Given the description of an element on the screen output the (x, y) to click on. 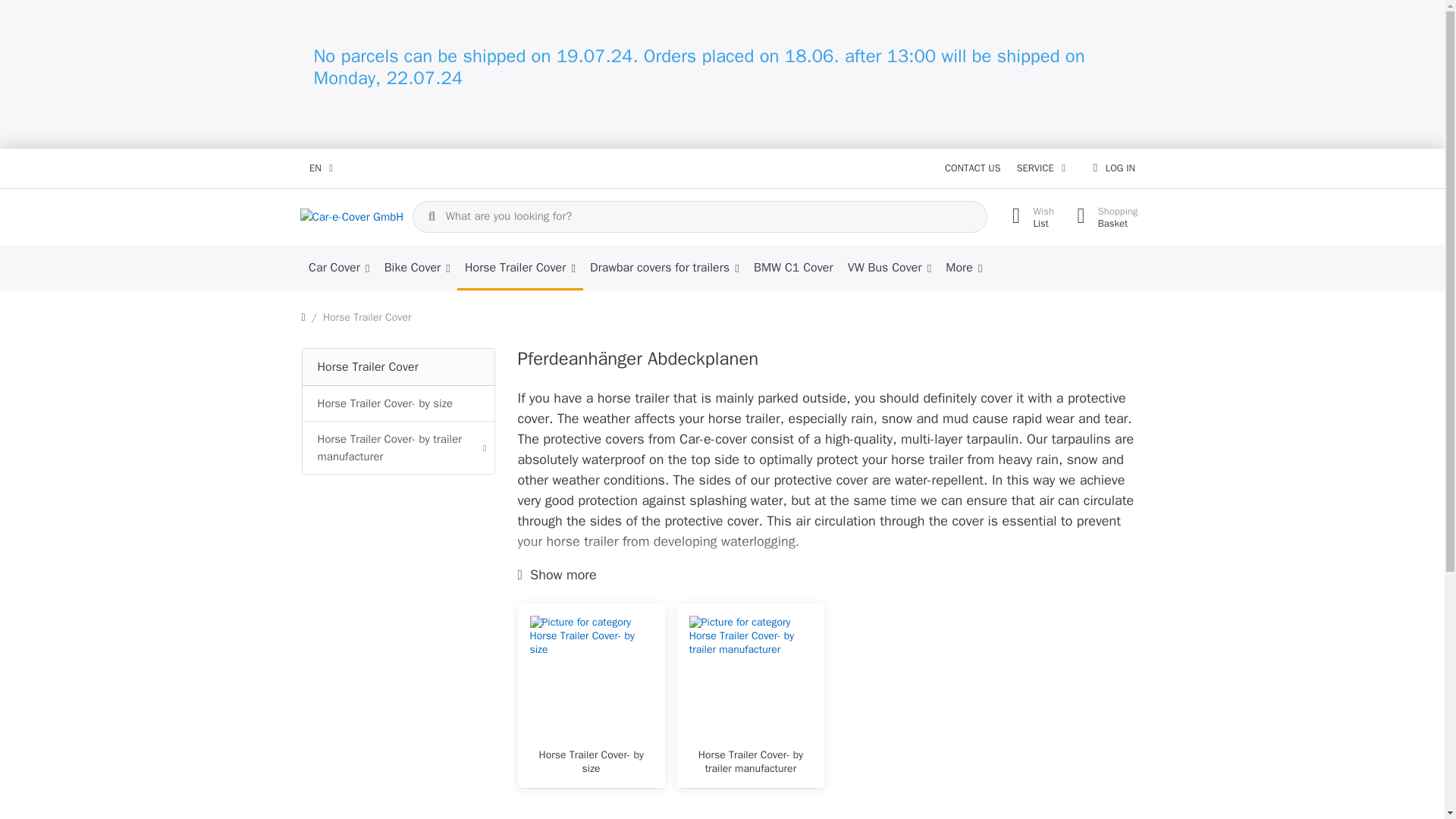
Car-e-Cover GmbH (351, 217)
Show products in category Horse Trailer Cover- by size (590, 676)
Show products in category Horse Trailer Cover- by size (1102, 216)
LOG IN (590, 761)
Drawbar covers for trailers (1113, 168)
Bike Cover (663, 267)
More (417, 267)
EN (964, 267)
BMW C1 Cover (320, 168)
CONTACT US (792, 267)
